Given the description of an element on the screen output the (x, y) to click on. 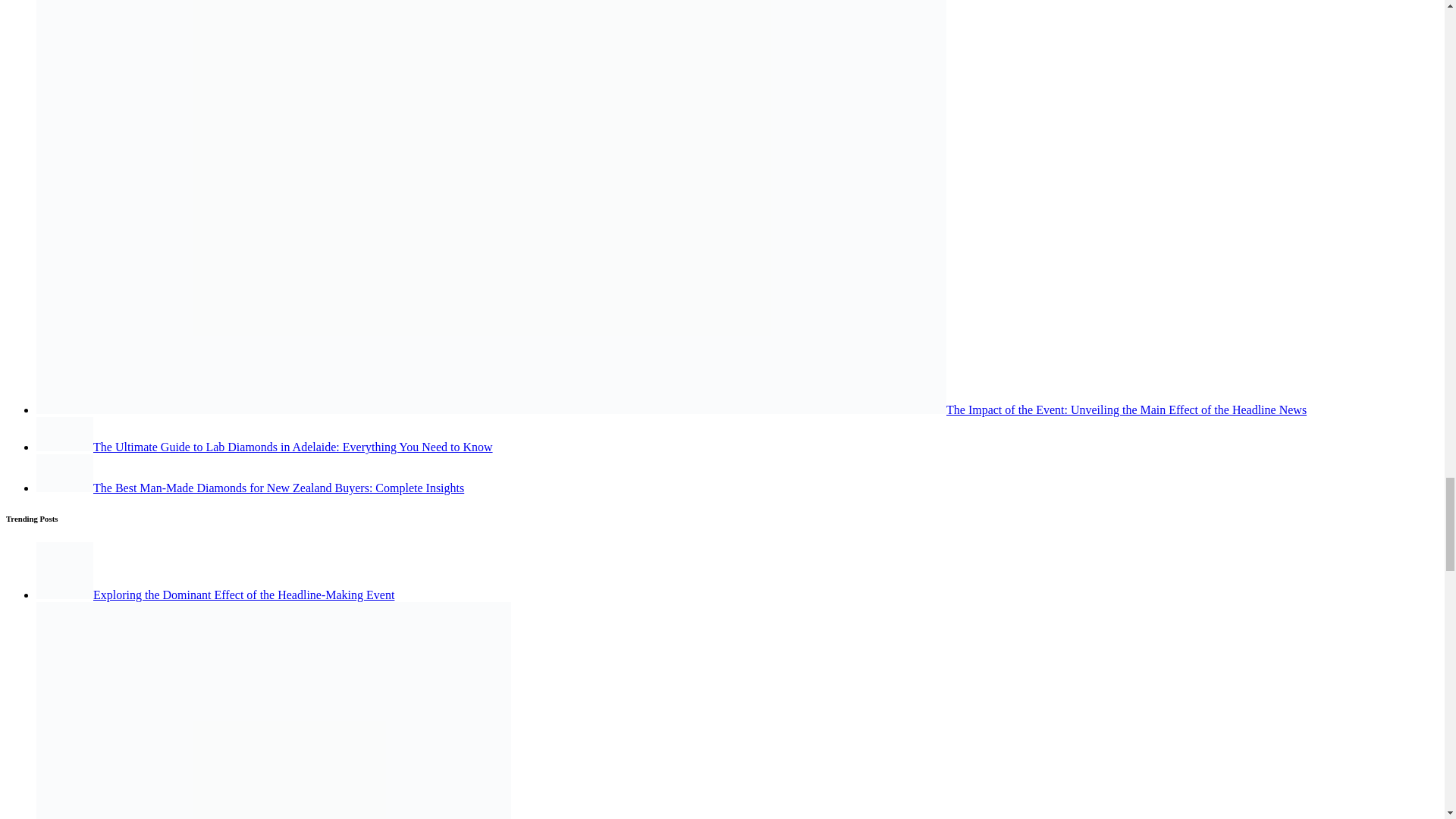
made diamonds (64, 473)
